Given the description of an element on the screen output the (x, y) to click on. 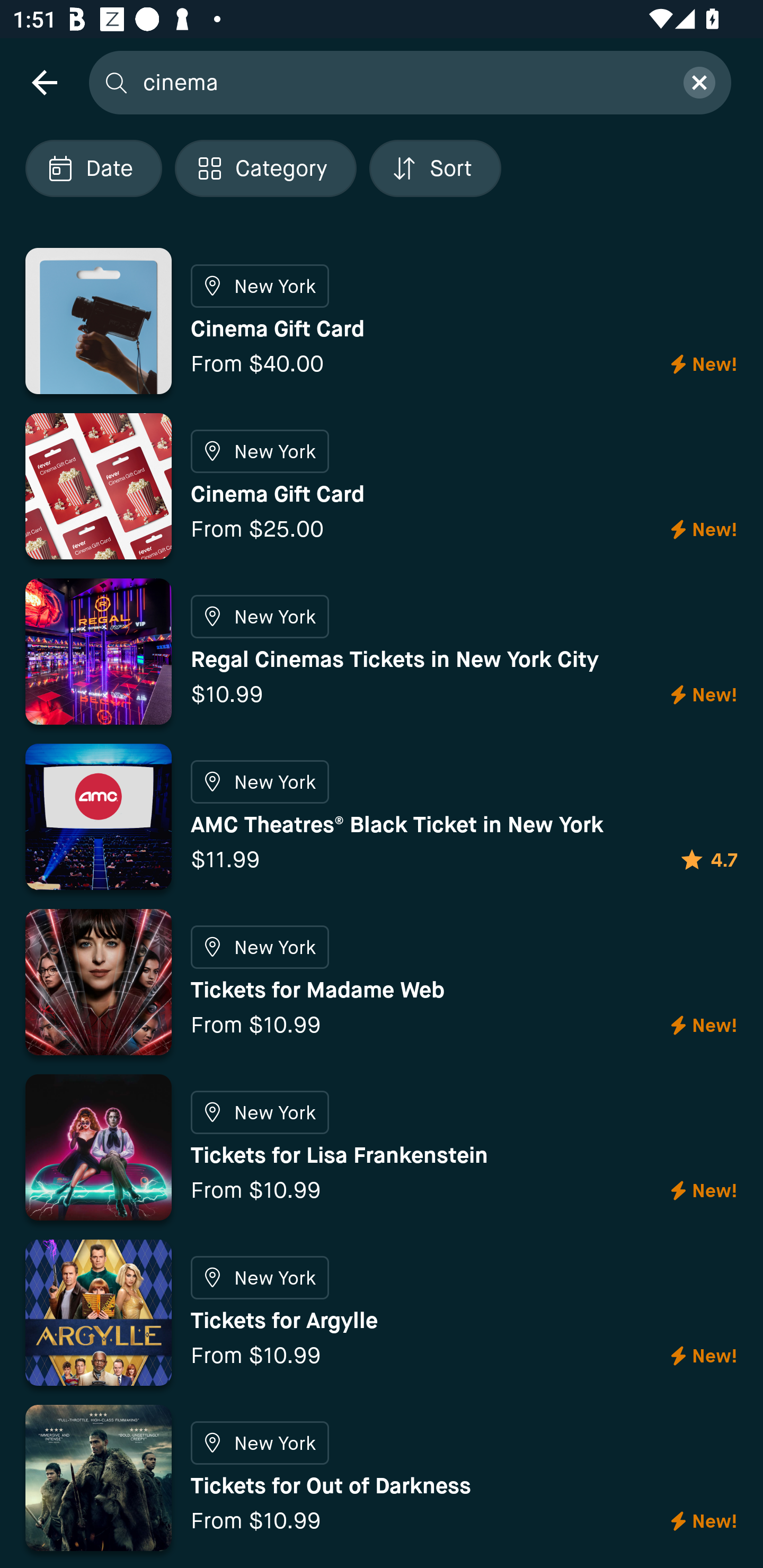
navigation icon (44, 81)
cinema (402, 81)
Localized description Date (93, 168)
Localized description Category (265, 168)
Localized description Sort (435, 168)
